Given the description of an element on the screen output the (x, y) to click on. 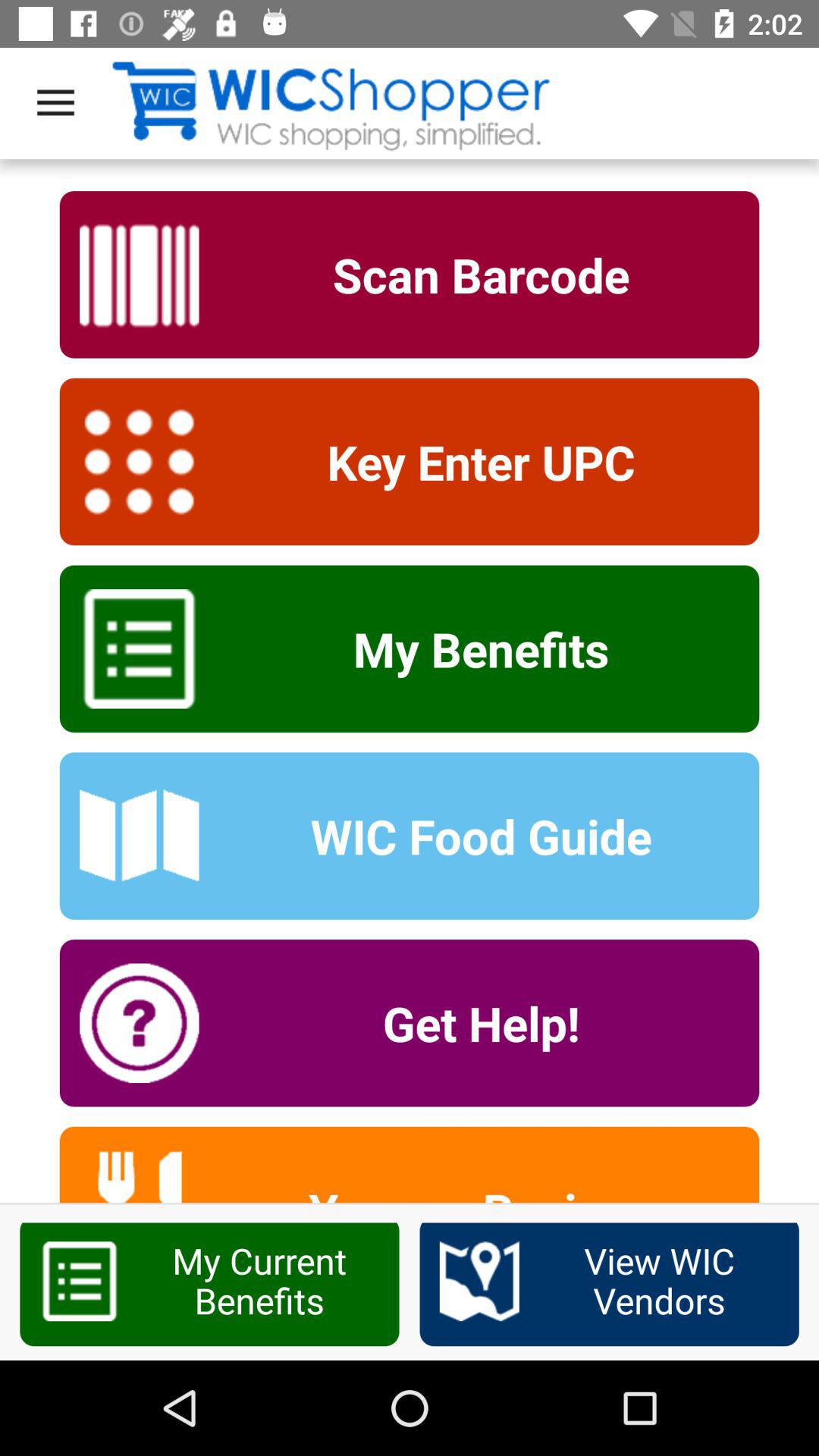
click the get help! icon (471, 1023)
